Given the description of an element on the screen output the (x, y) to click on. 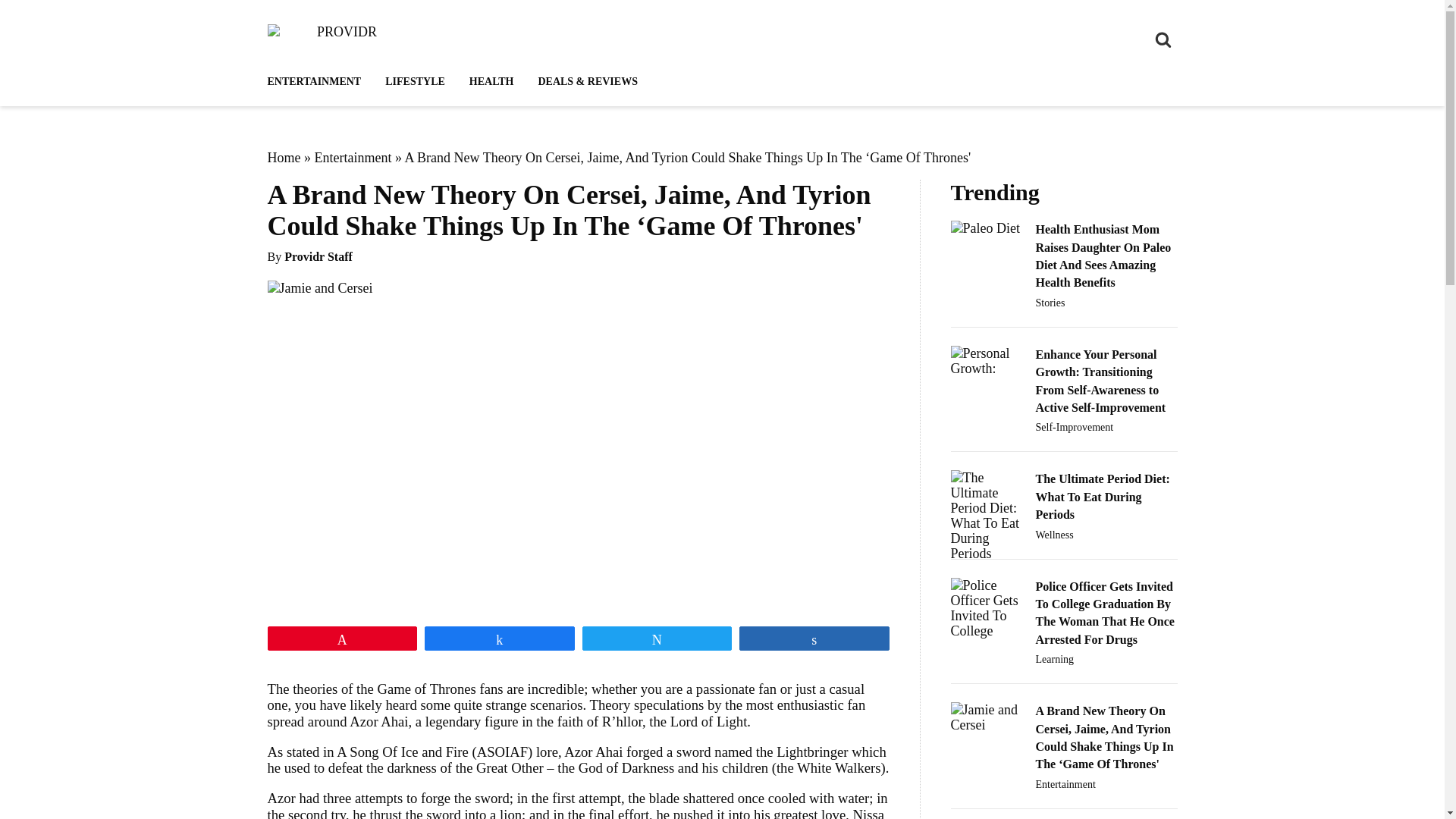
Home (282, 157)
HEALTH (491, 81)
Entertainment (352, 157)
ENTERTAINMENT (319, 81)
LIFESTYLE (414, 81)
Providr Staff (317, 256)
